Given the description of an element on the screen output the (x, y) to click on. 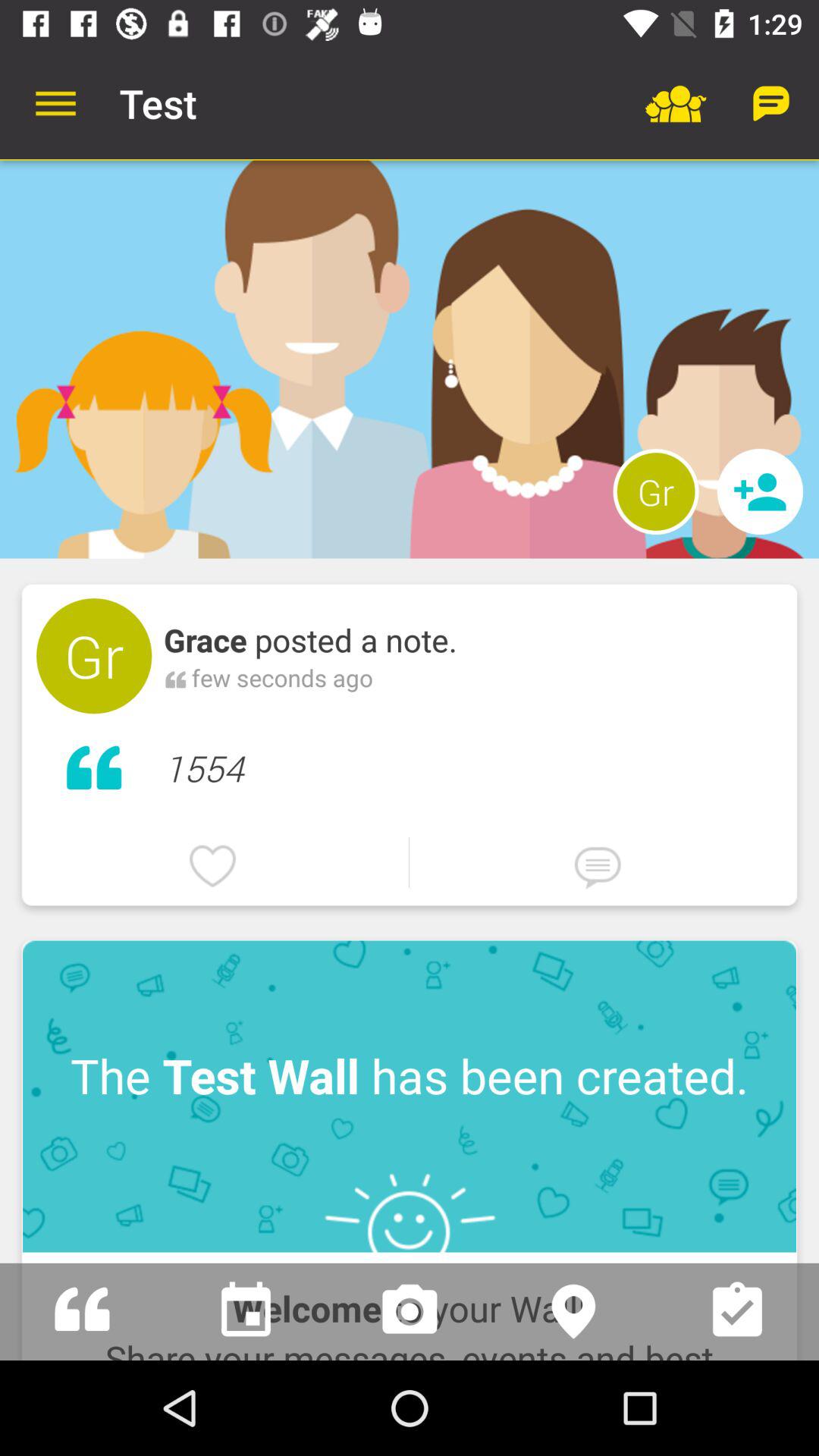
callendar (245, 1311)
